Given the description of an element on the screen output the (x, y) to click on. 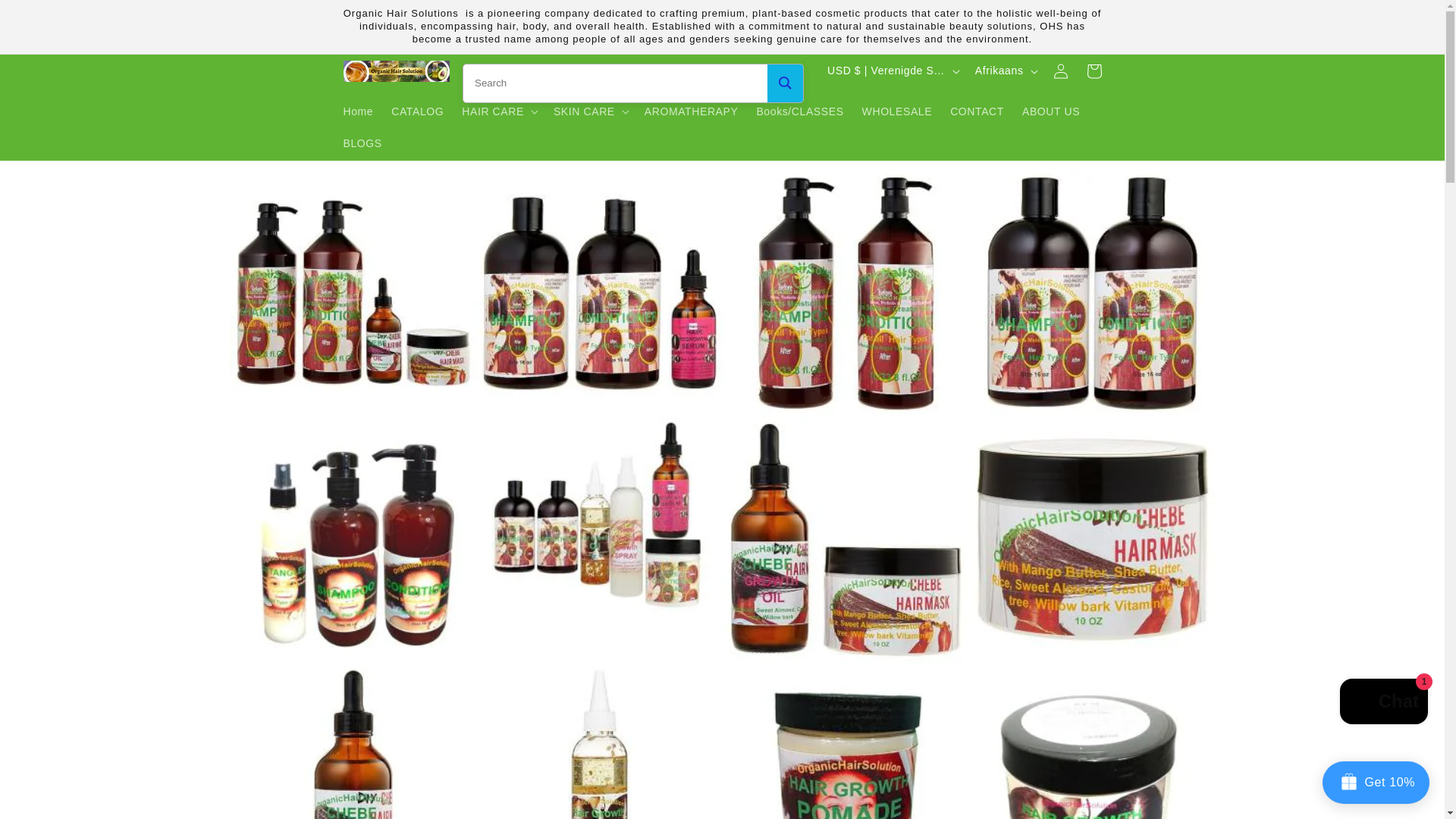
AROMATHERAPY (691, 111)
CATALOG (416, 111)
Home (357, 111)
Skip to content (45, 17)
Shopify online store chat (1383, 703)
